Given the description of an element on the screen output the (x, y) to click on. 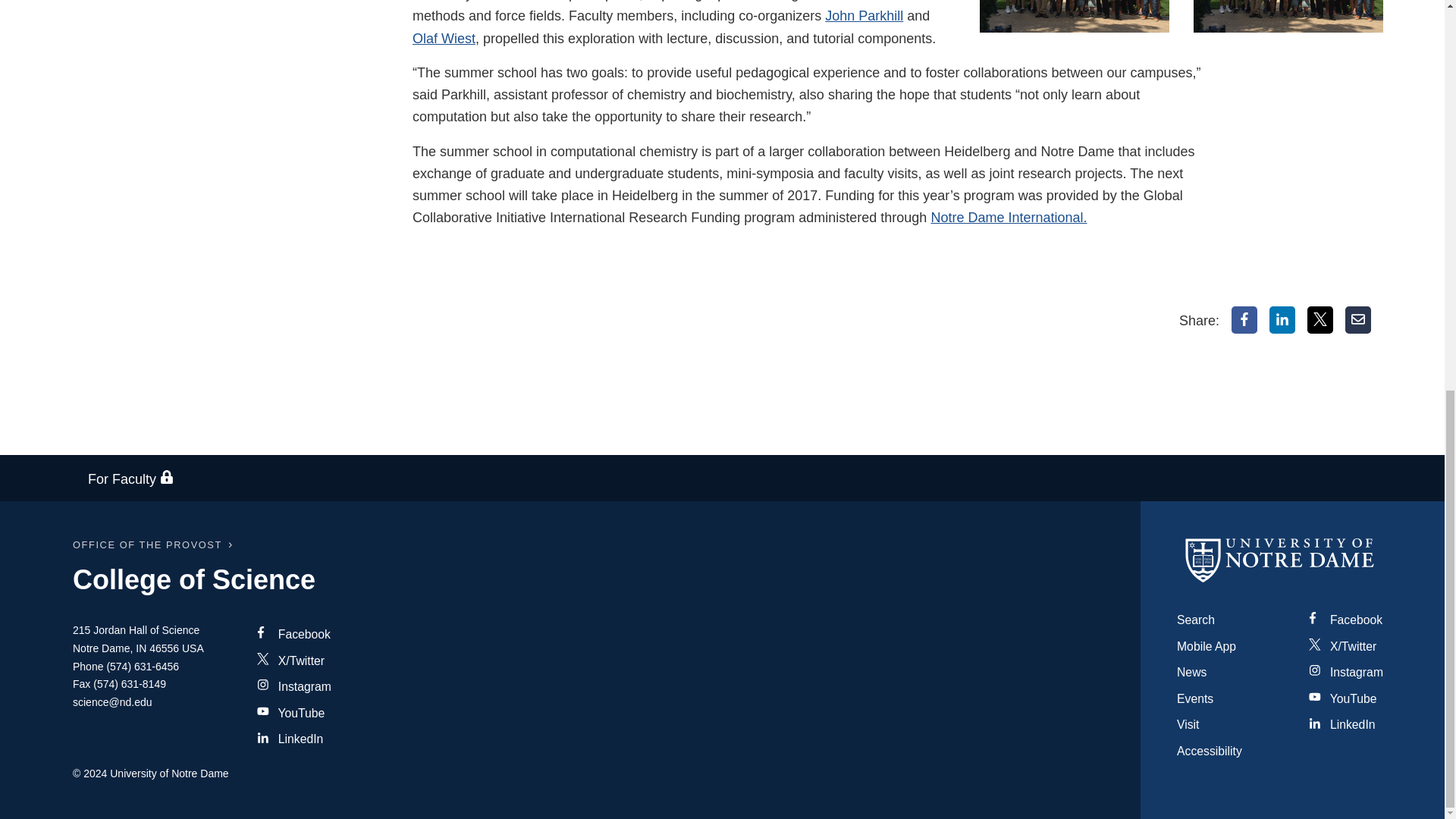
LinkedIn (1282, 319)
Email (1358, 319)
John Parkhill (863, 15)
Facebook (1244, 319)
